Given the description of an element on the screen output the (x, y) to click on. 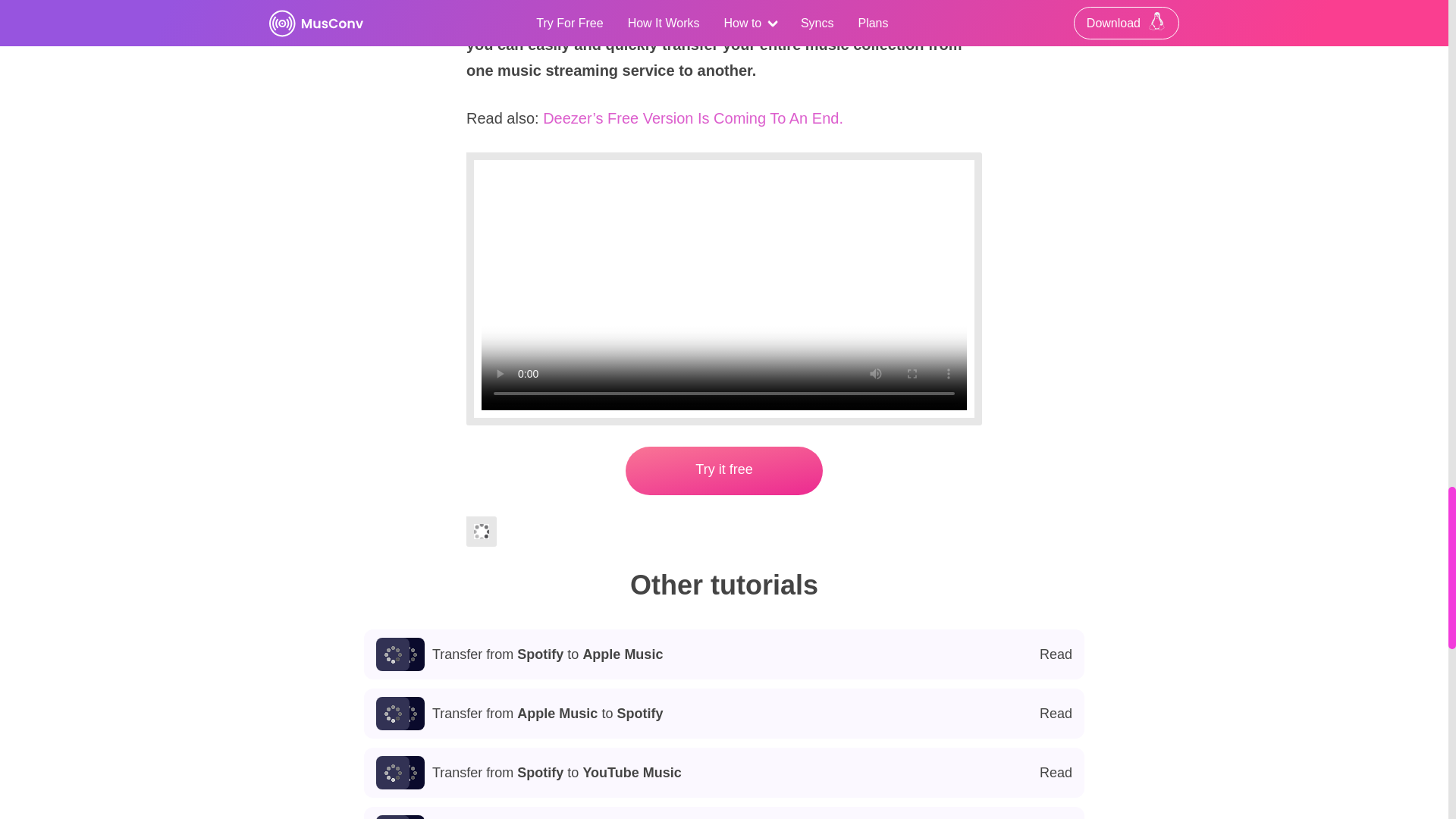
Try it free (724, 772)
